Given the description of an element on the screen output the (x, y) to click on. 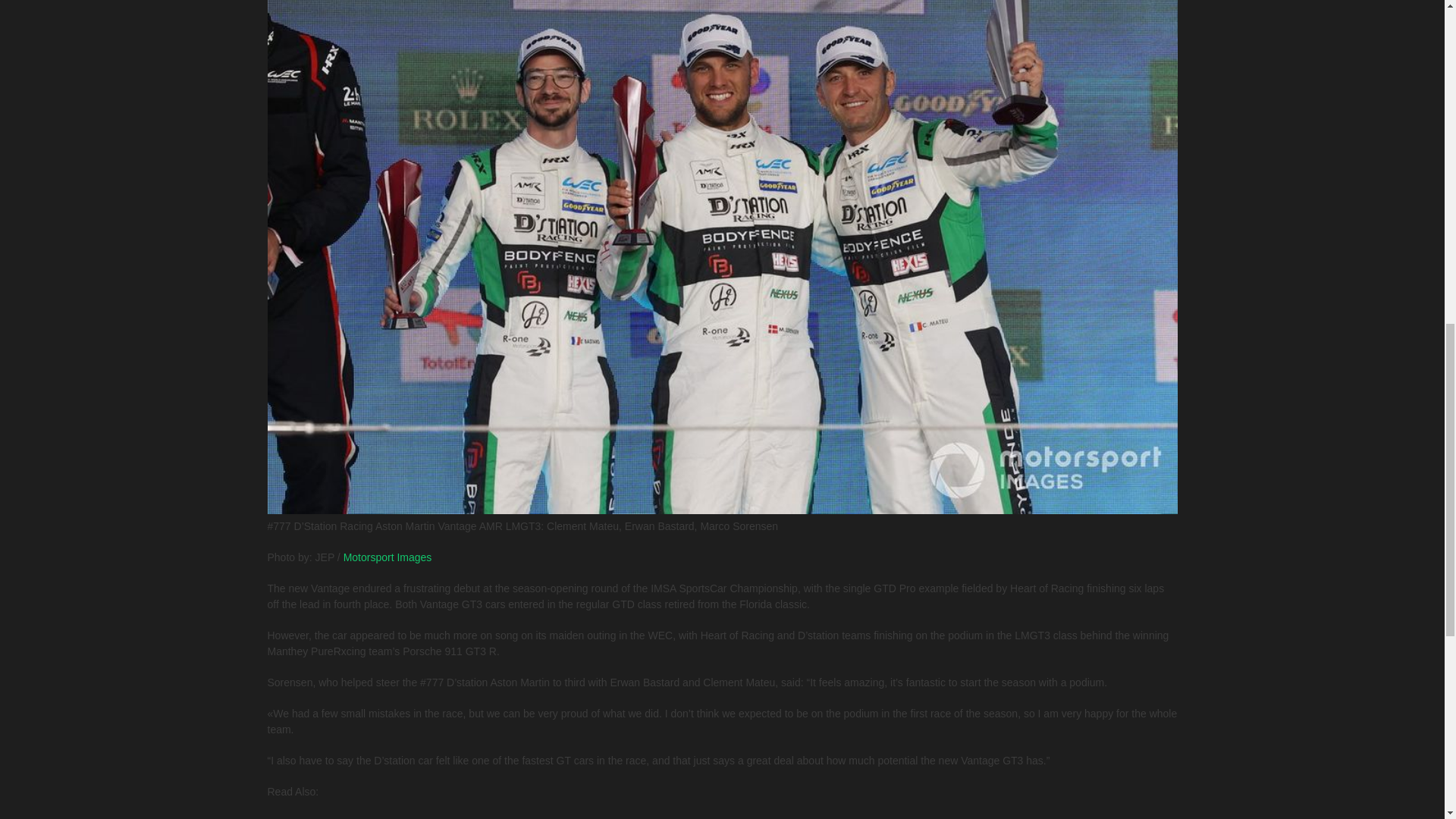
Motorsport Images (387, 557)
